Given the description of an element on the screen output the (x, y) to click on. 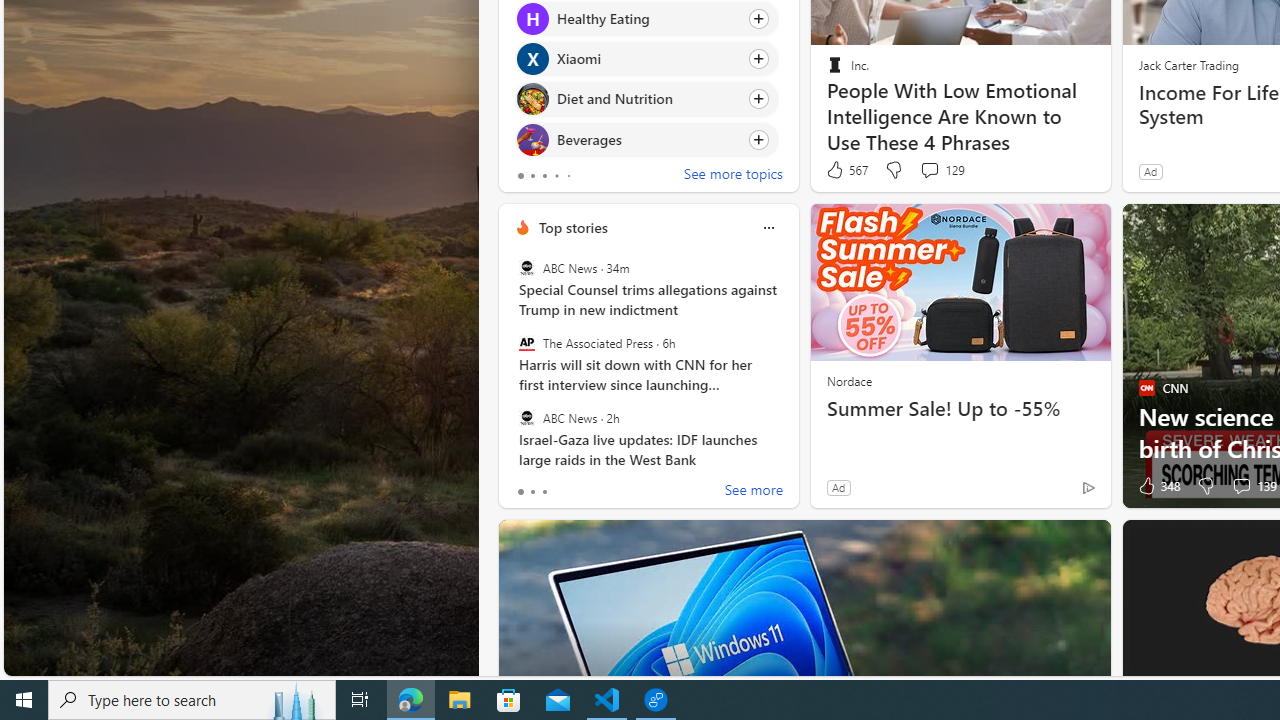
View comments 129 Comment (929, 169)
tab-4 (567, 175)
